Given the description of an element on the screen output the (x, y) to click on. 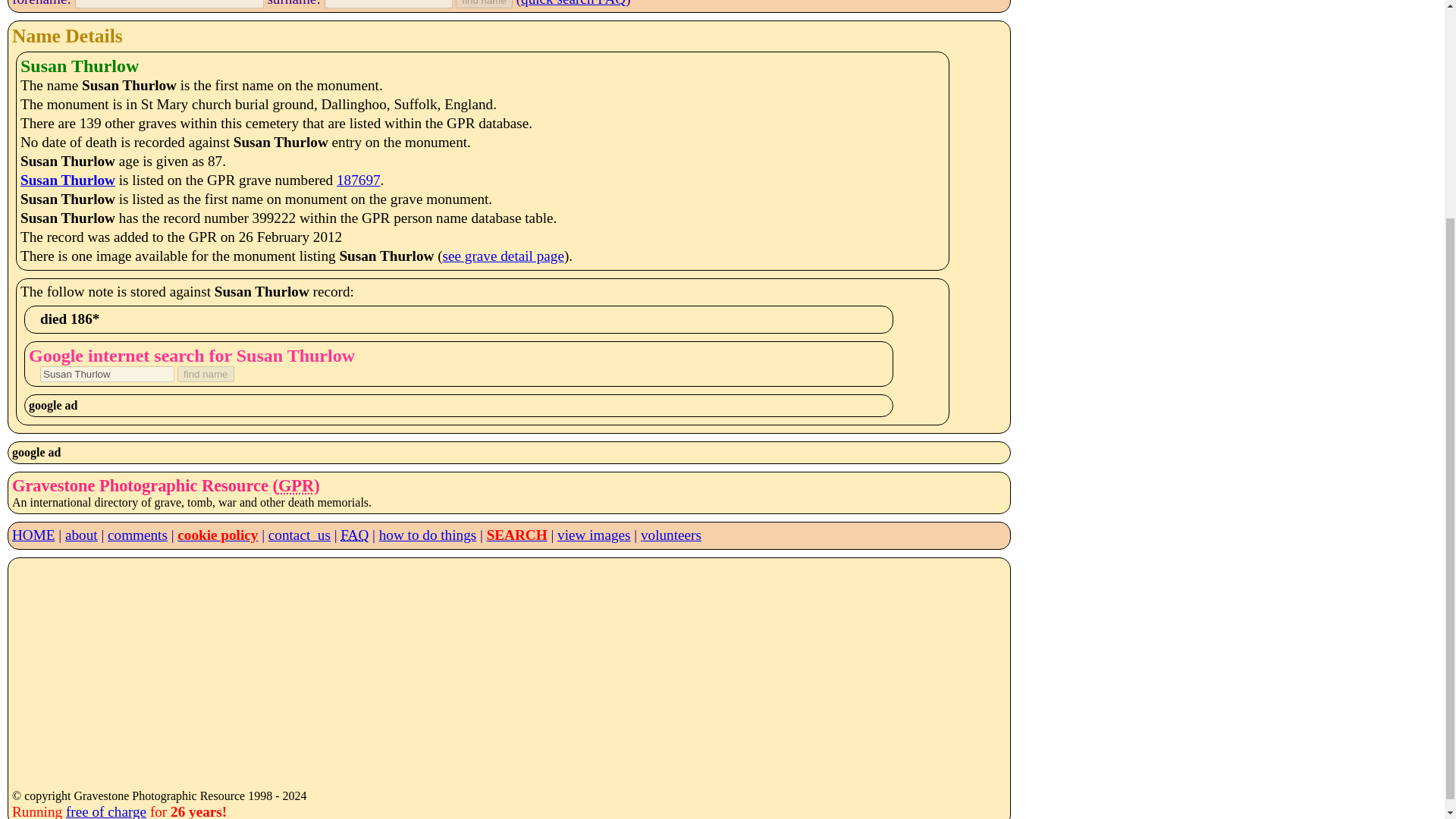
about (81, 534)
187697 (358, 179)
cookie policy (217, 534)
find name (483, 4)
quick search FAQ (573, 3)
find name (205, 374)
find name (483, 4)
Susan Thurlow (67, 179)
Susan Thurlow (107, 374)
Frequently Asked Questions (354, 534)
how to do things (427, 534)
find name (205, 374)
SEARCH (516, 534)
see grave detail page (503, 255)
